Given the description of an element on the screen output the (x, y) to click on. 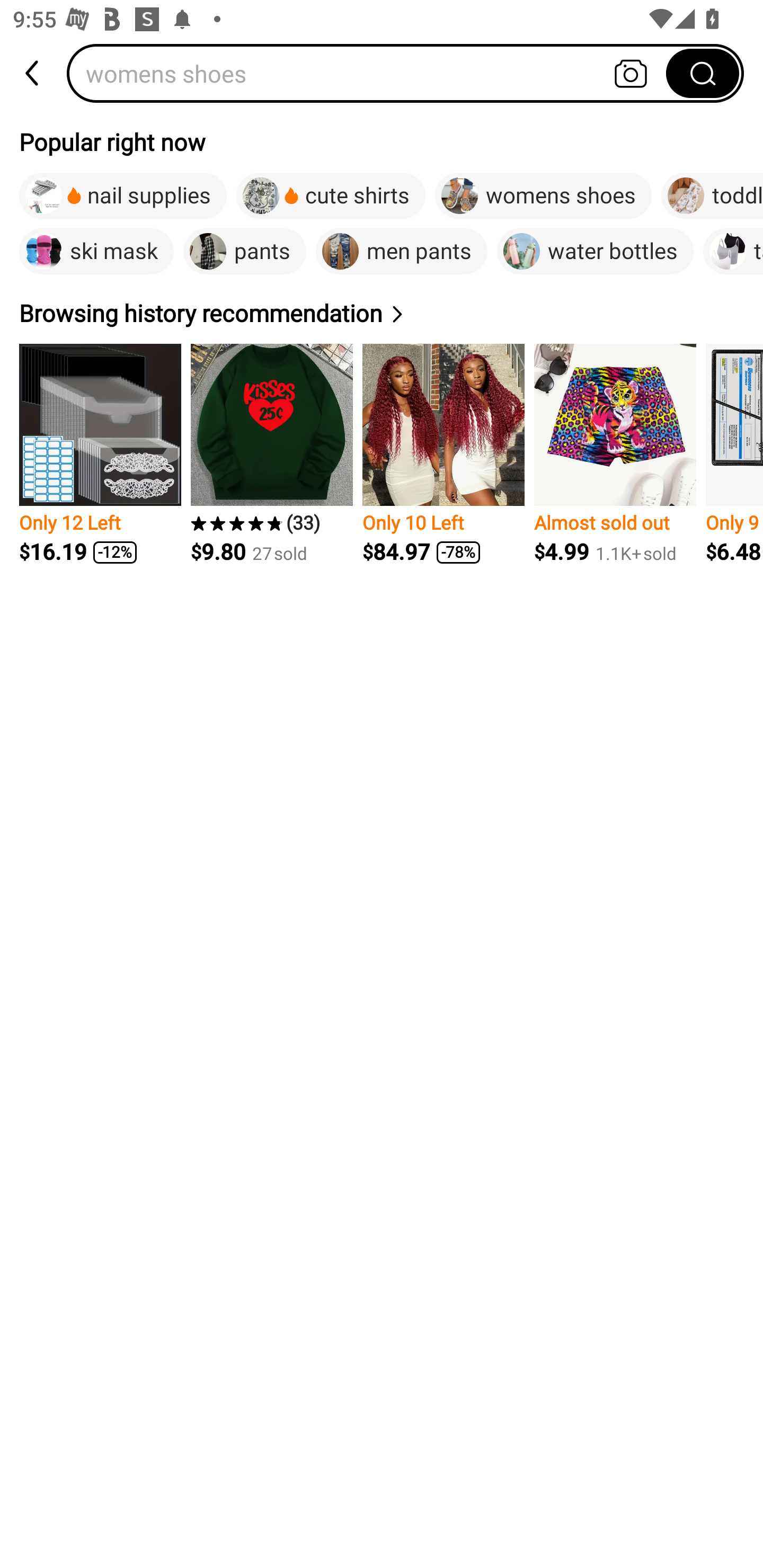
back (33, 72)
womens shoes (372, 73)
Search by photo (630, 73)
nail supplies (122, 195)
cute shirts (330, 195)
womens shoes (542, 195)
ski mask (96, 251)
pants (244, 251)
men pants (401, 251)
water bottles (594, 251)
Browsing history recommendation (213, 313)
Only 12 Left $16.19 -12% (100, 453)
(33) $9.80 27￼sold (271, 453)
Only 10 Left $84.97 -78% (443, 453)
Almost sold out $4.99 1.1K+￼sold (614, 453)
